Given the description of an element on the screen output the (x, y) to click on. 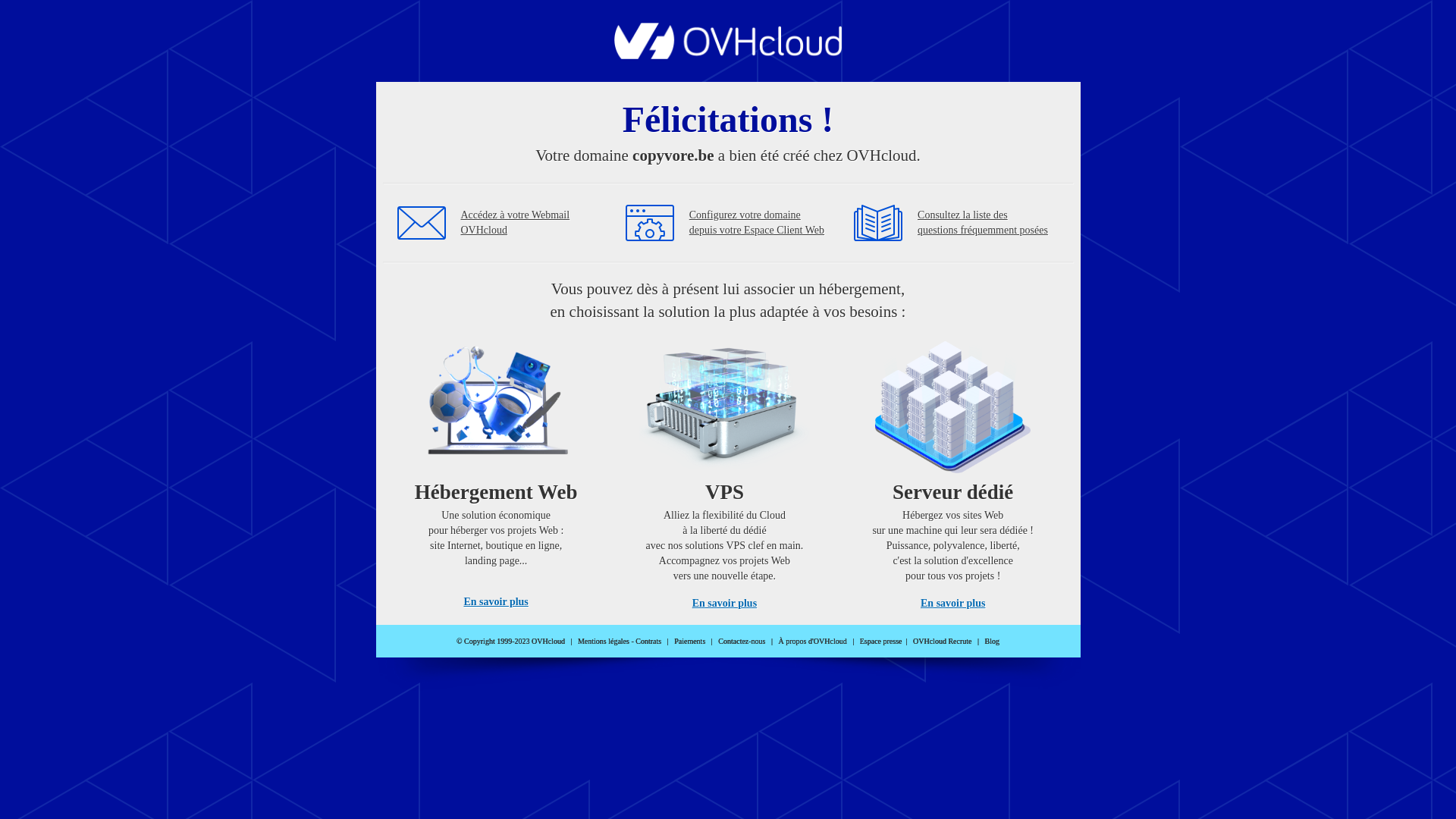
En savoir plus Element type: text (952, 602)
OVHcloud Element type: hover (727, 54)
Blog Element type: text (992, 641)
Espace presse Element type: text (880, 641)
En savoir plus Element type: text (495, 601)
VPS Element type: hover (724, 469)
OVHcloud Recrute Element type: text (942, 641)
Paiements Element type: text (689, 641)
Contactez-nous Element type: text (741, 641)
Configurez votre domaine
depuis votre Espace Client Web Element type: text (756, 222)
En savoir plus Element type: text (724, 602)
